Given the description of an element on the screen output the (x, y) to click on. 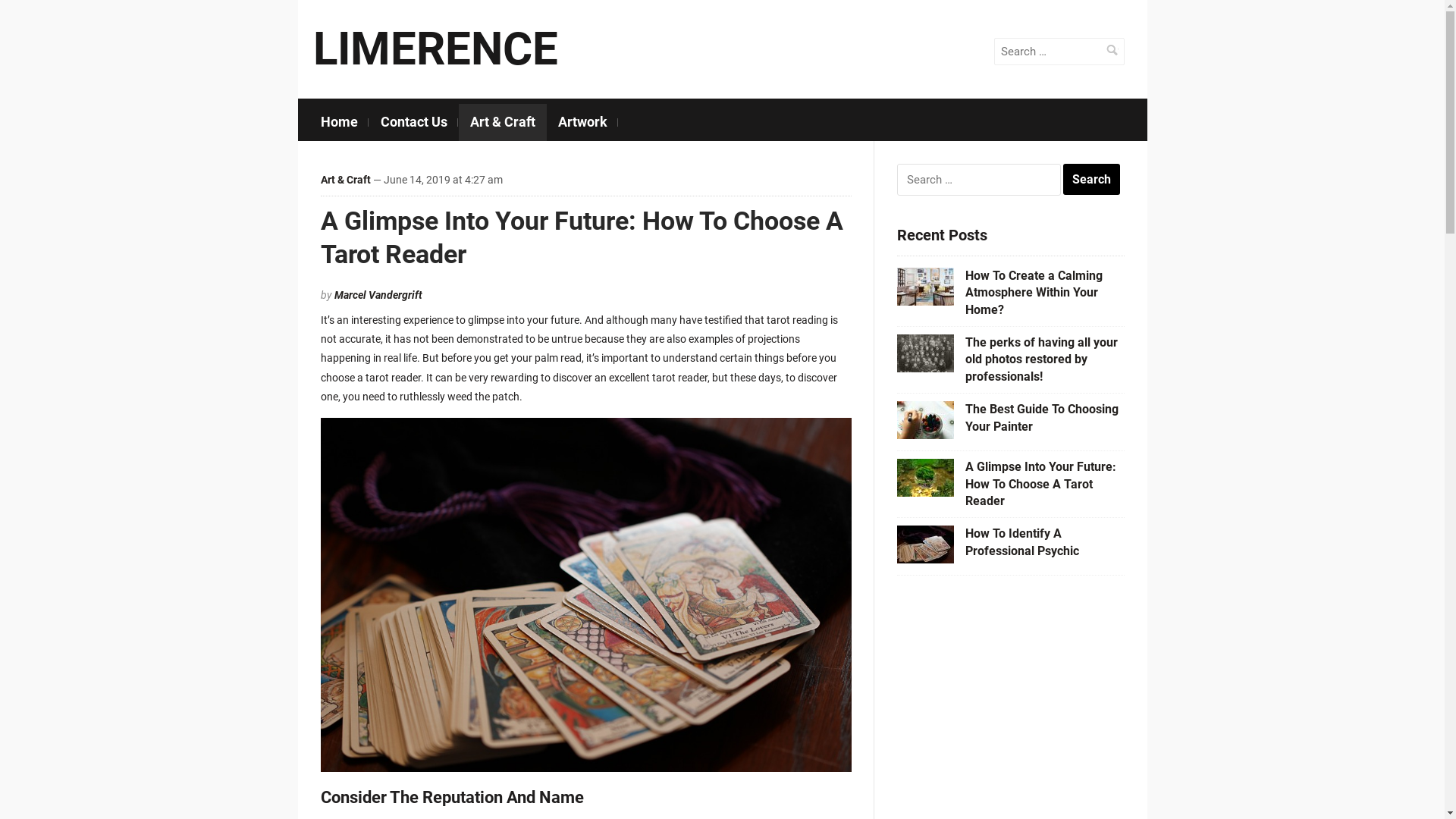
Art & Craft Element type: text (345, 179)
The Best Guide To Choosing Your Painter Element type: text (1040, 417)
Search for: Element type: hover (978, 179)
Artwork Element type: text (582, 122)
Home Element type: text (339, 122)
Art & Craft Element type: text (502, 122)
LIMERENCE Element type: text (434, 48)
A Glimpse Into Your Future: How To Choose A Tarot Reader Element type: text (1039, 483)
Search Element type: text (1091, 179)
How To Create a Calming Atmosphere Within Your Home? Element type: text (1032, 292)
Contact Us Element type: text (413, 122)
How To Identify A Professional Psychic Element type: text (1021, 541)
Search for: Element type: hover (1058, 51)
Marcel Vandergrift Element type: text (377, 294)
A Glimpse Into Your Future: How To Choose A Tarot Reader Element type: text (581, 237)
Search Element type: text (1111, 49)
